Given the description of an element on the screen output the (x, y) to click on. 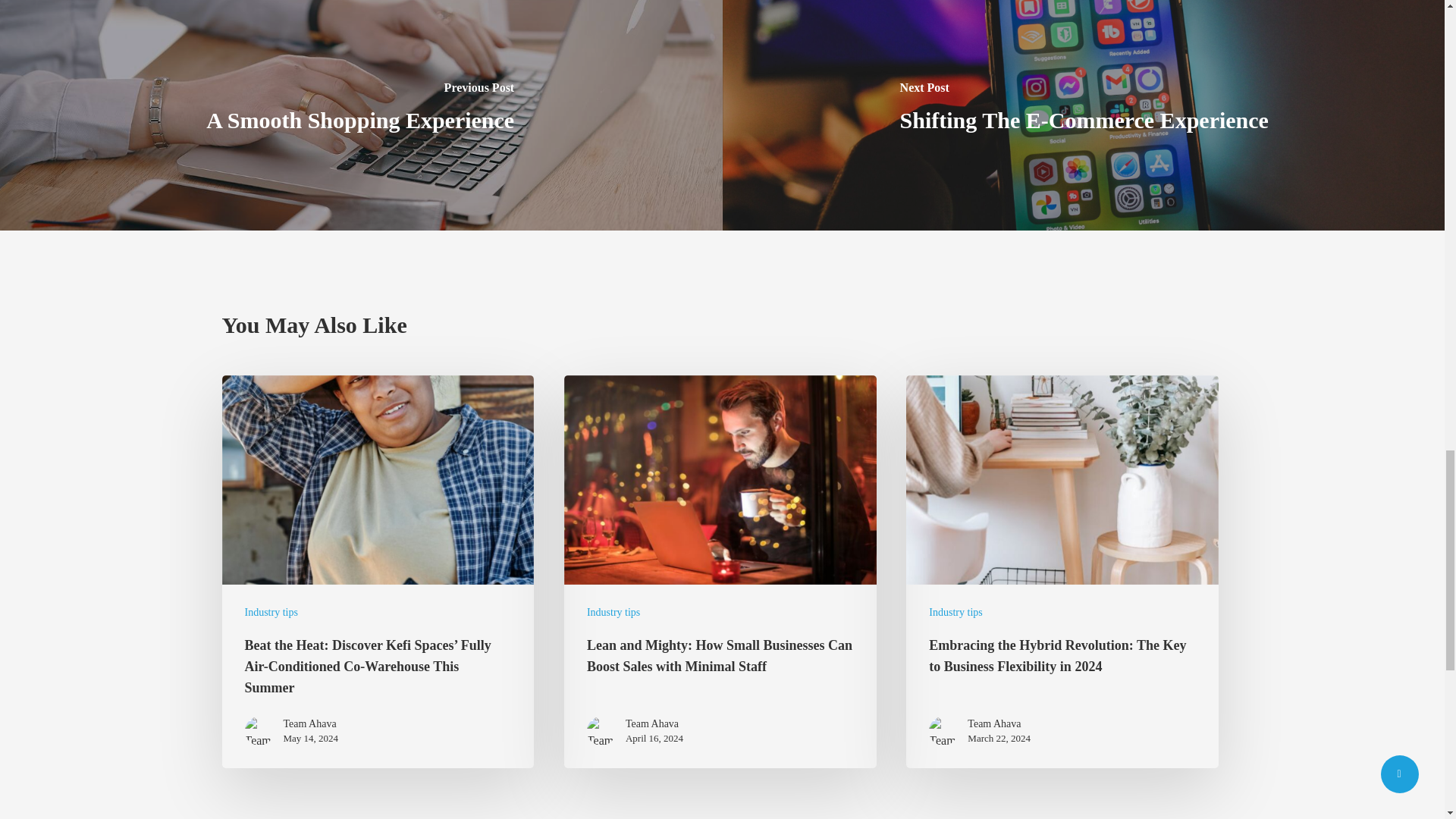
Team Ahava (311, 724)
Team Ahava (654, 724)
Team Ahava (999, 724)
Industry tips (270, 612)
Industry tips (954, 612)
Industry tips (613, 612)
